Given the description of an element on the screen output the (x, y) to click on. 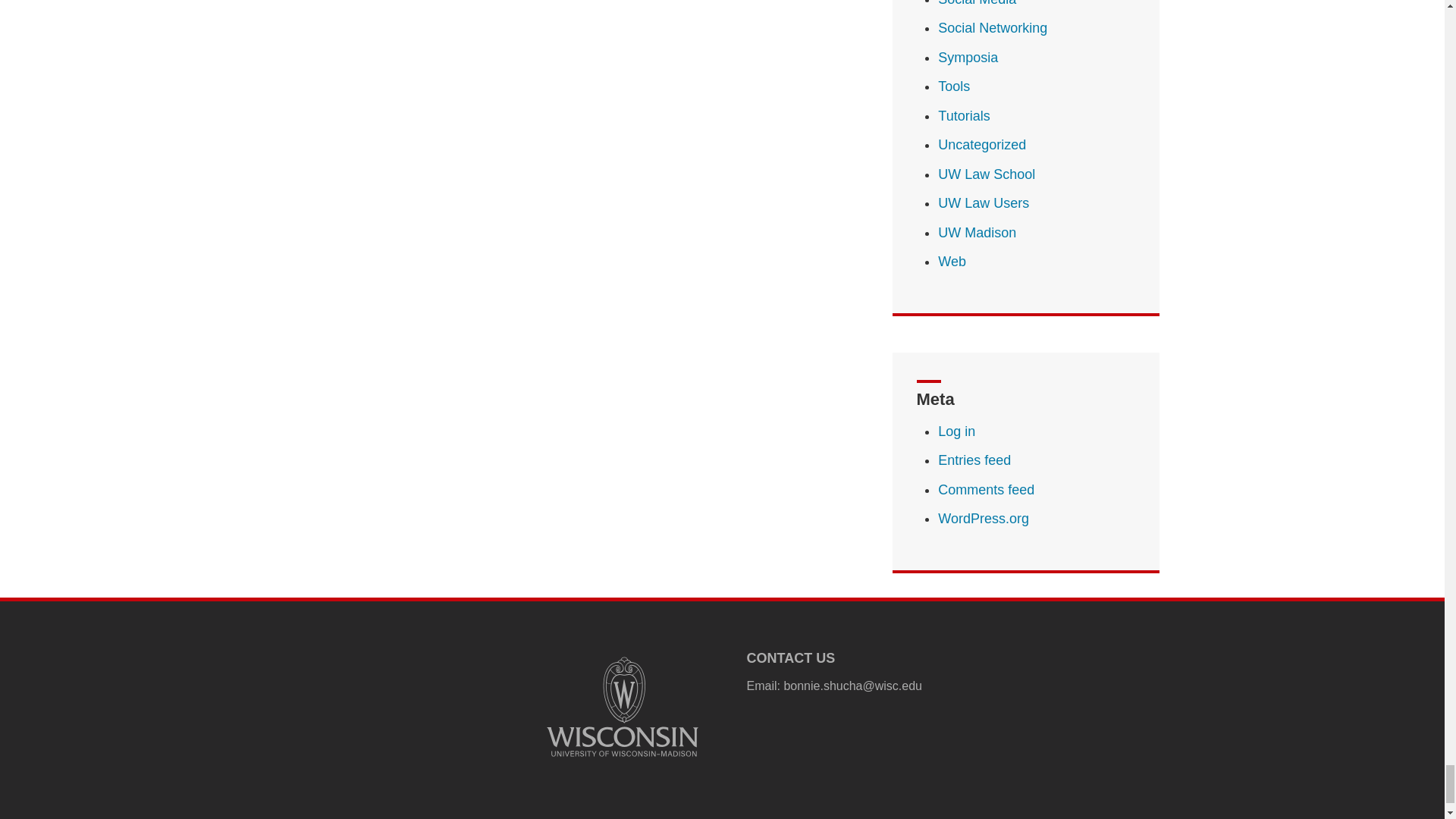
University logo that links to main university website (621, 706)
